Given the description of an element on the screen output the (x, y) to click on. 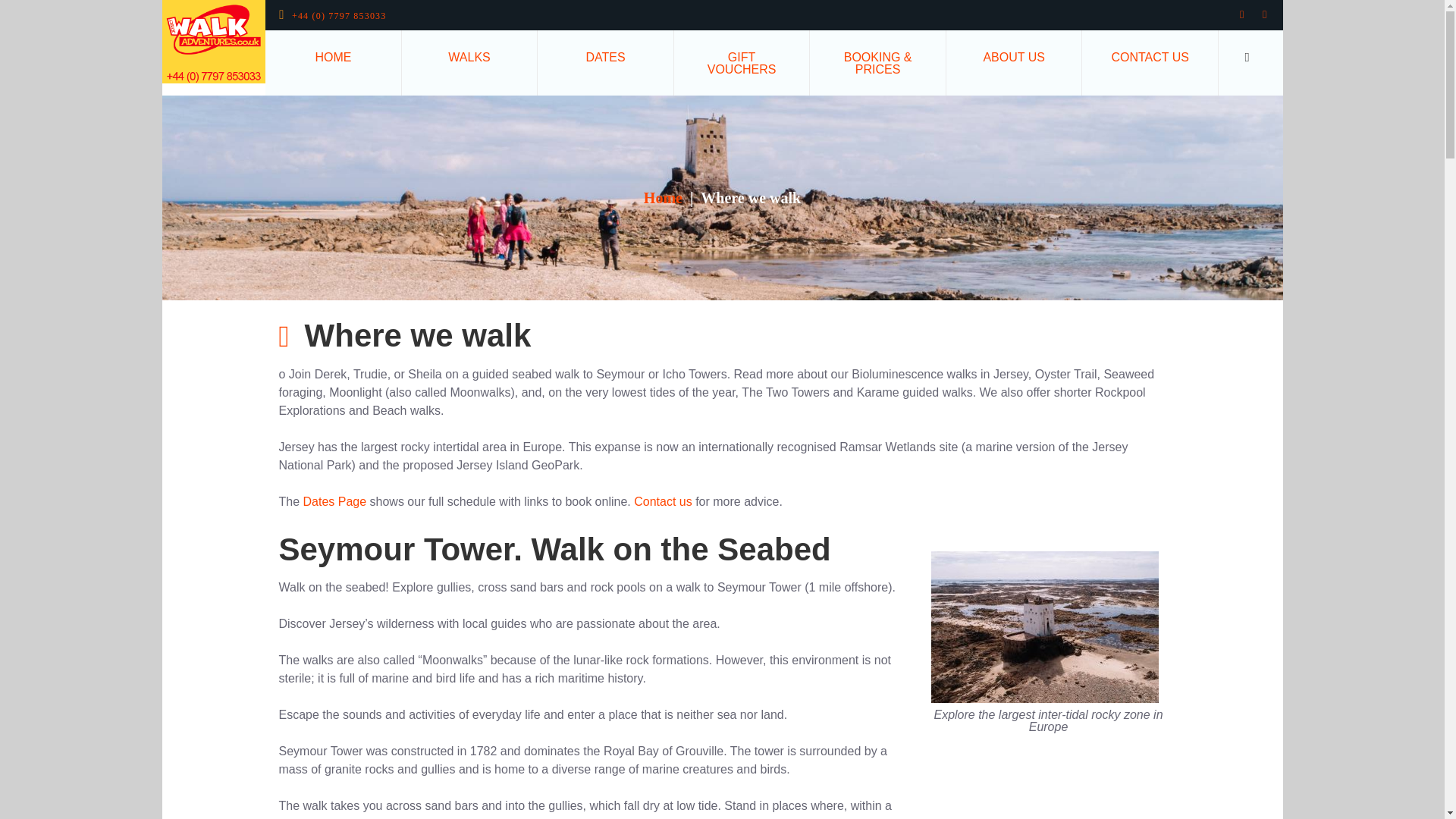
GIFT VOUCHERS (741, 62)
DATES (604, 56)
HOME (332, 56)
WALKS (469, 56)
CONTACT US (1149, 56)
ABOUT US (1013, 56)
Start search (1246, 57)
